Given the description of an element on the screen output the (x, y) to click on. 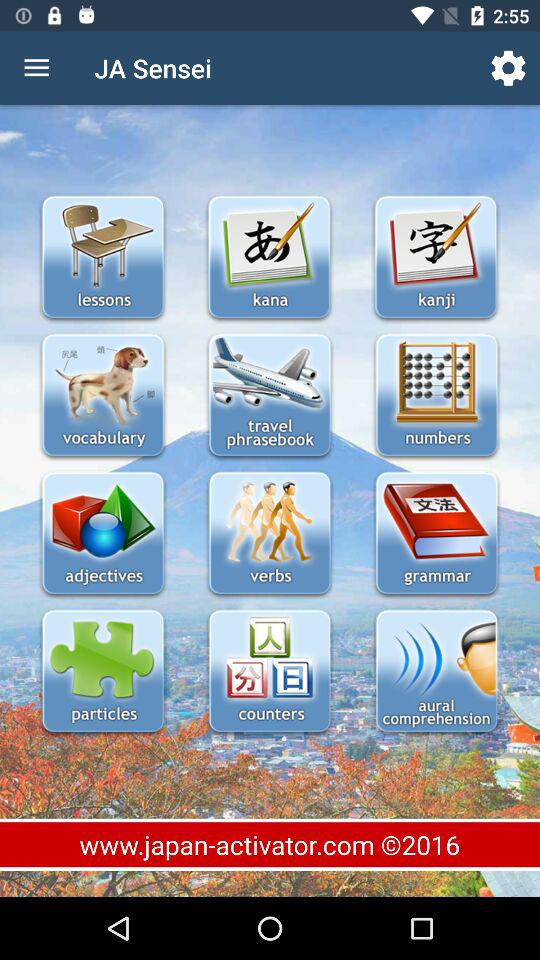
open numbers (436, 396)
